Given the description of an element on the screen output the (x, y) to click on. 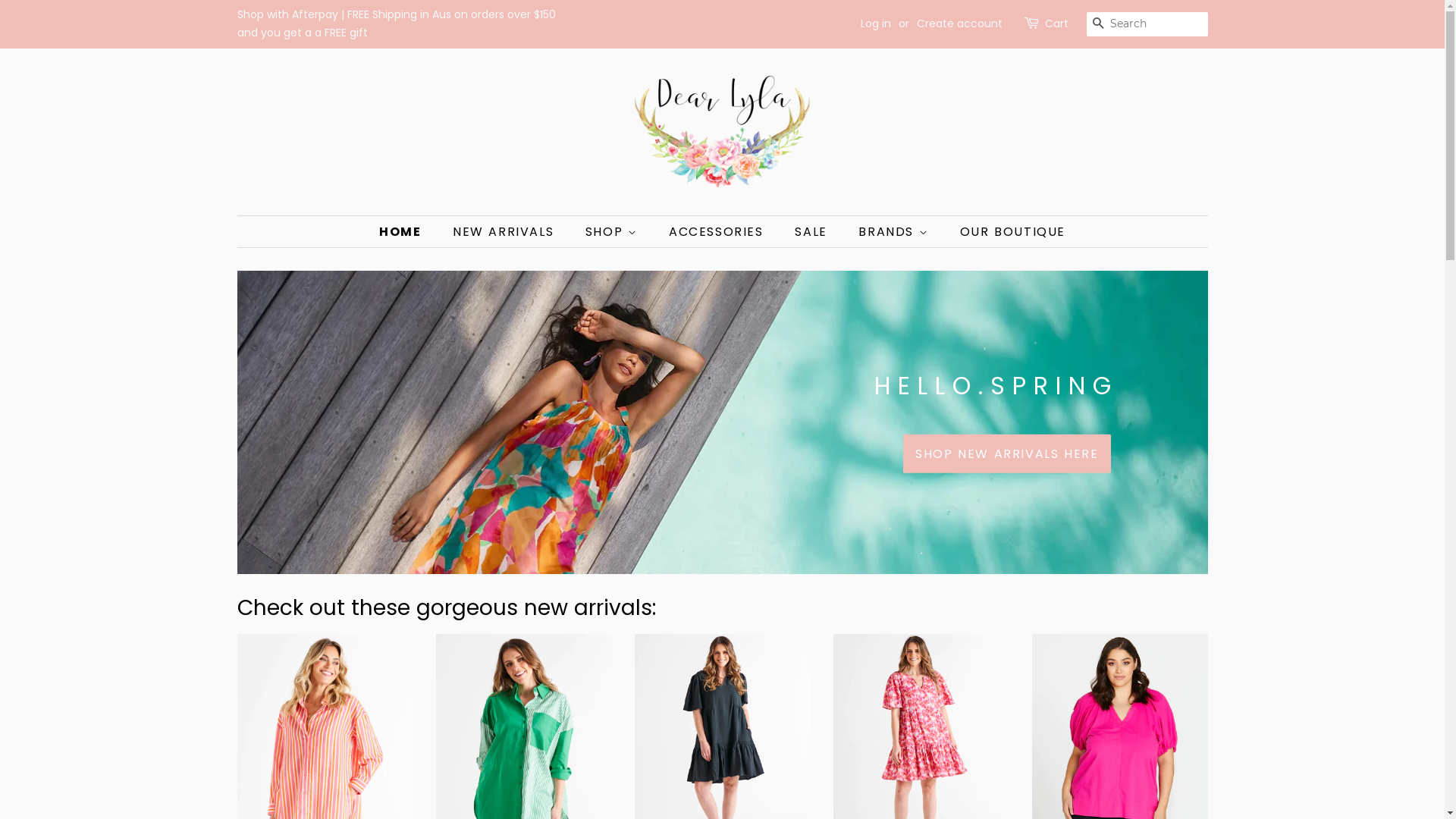
HOME Element type: text (407, 231)
SHOP Element type: text (613, 231)
OUR BOUTIQUE Element type: text (1006, 231)
ACCESSORIES Element type: text (717, 231)
Log in Element type: text (874, 23)
SEARCH Element type: text (1097, 24)
SALE Element type: text (812, 231)
Create account Element type: text (958, 23)
NEW ARRIVALS Element type: text (504, 231)
SHOP NEW ARRIVALS HERE Element type: text (1006, 453)
BRANDS Element type: text (895, 231)
Cart Element type: text (1056, 24)
